Given the description of an element on the screen output the (x, y) to click on. 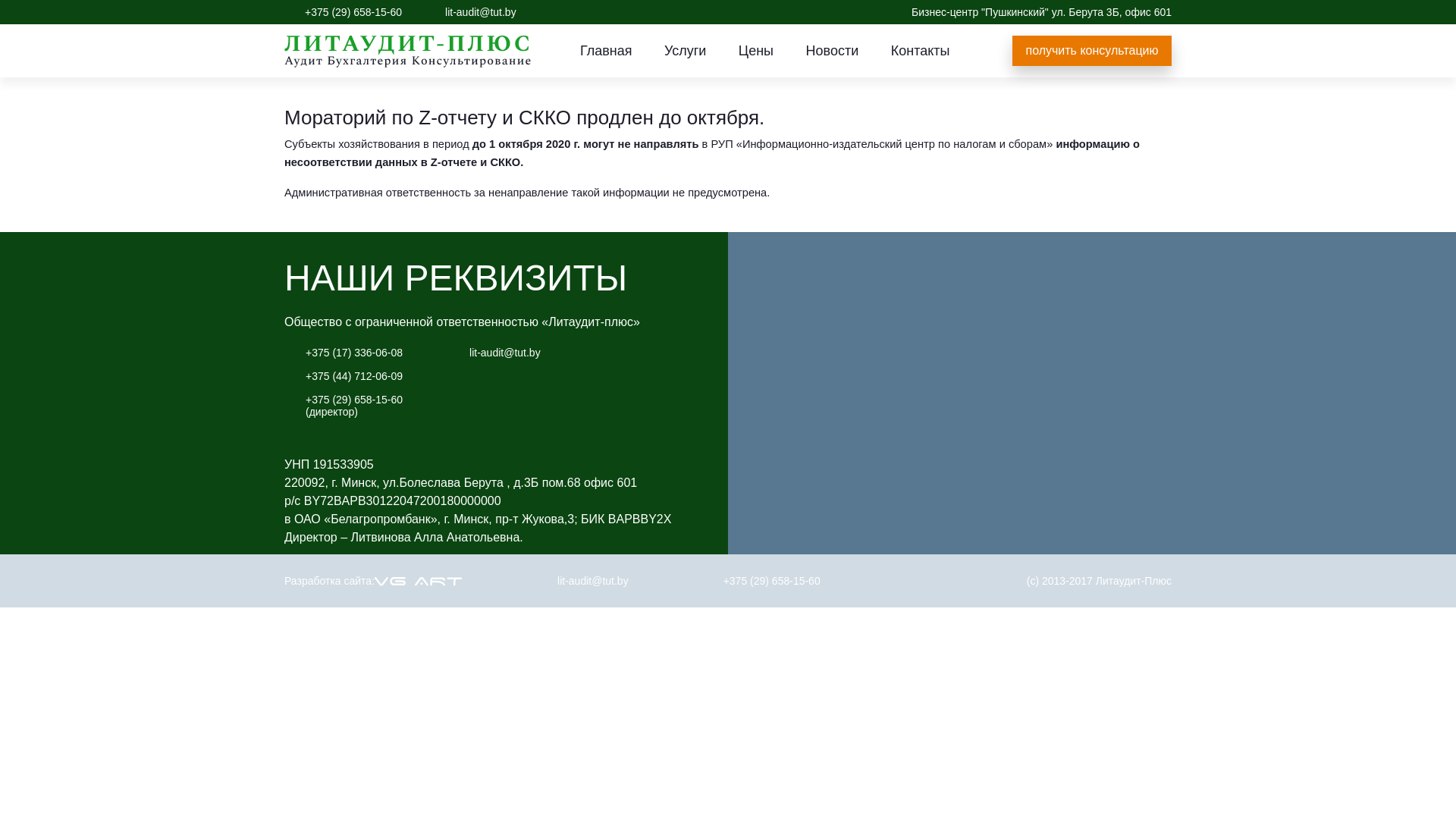
+375 (44) 712-06-09 Element type: text (353, 376)
lit-audit@tut.by Element type: text (592, 580)
+375 (29) 658-15-60 Element type: text (352, 12)
+375 (29) 658-15-60 Element type: text (771, 580)
0 Element type: text (549, 12)
lit-audit@tut.by Element type: text (504, 352)
+375 (17) 336-06-08 Element type: text (353, 352)
lit-audit@tut.by Element type: text (480, 12)
+375 (29) 658-15-60 Element type: text (353, 399)
